Given the description of an element on the screen output the (x, y) to click on. 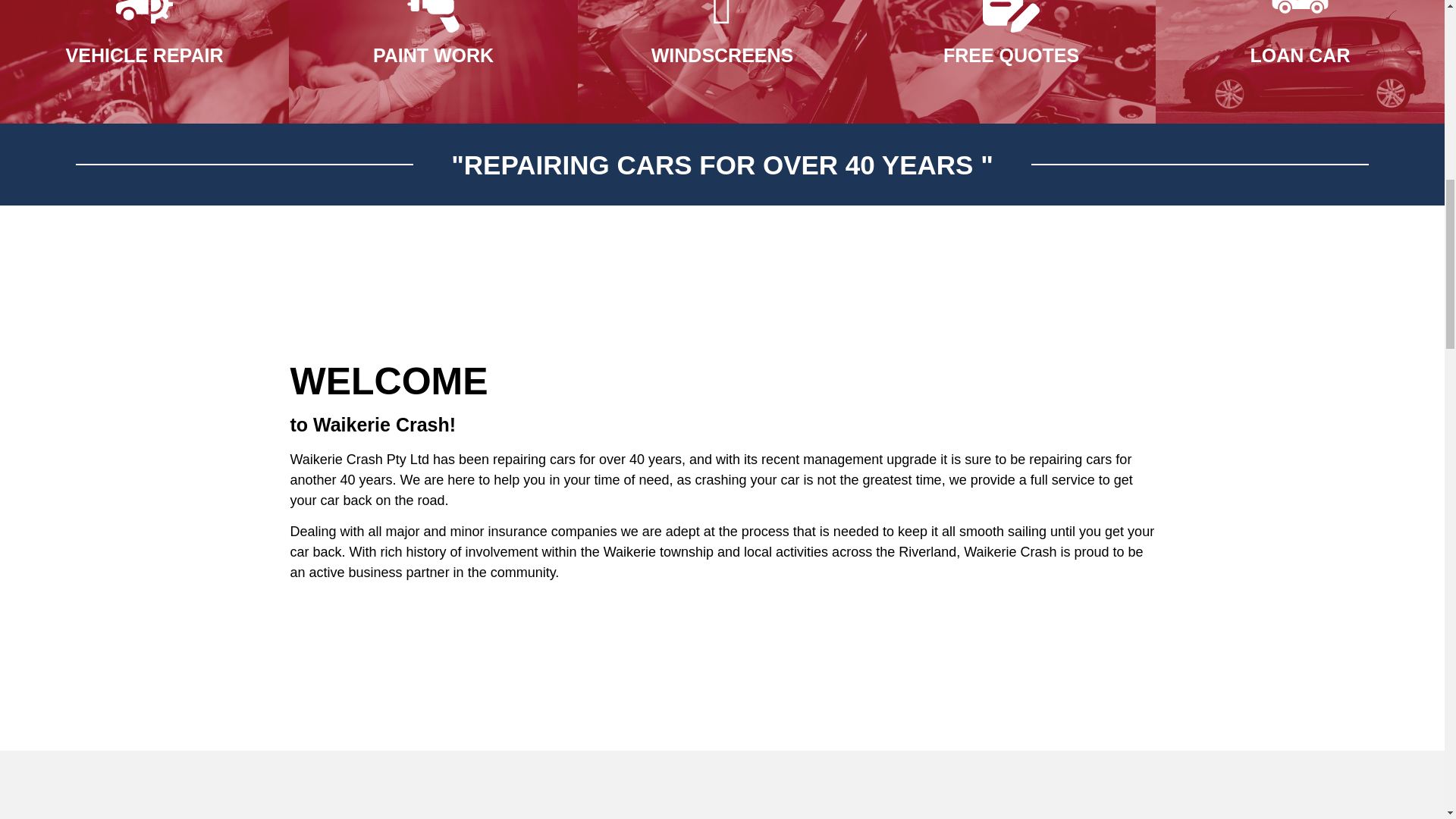
PAINT WORK (432, 55)
WINDSCREENS (721, 55)
LOAN CAR (1300, 55)
VEHICLE REPAIR (144, 55)
FREE QUOTES (1010, 55)
